Given the description of an element on the screen output the (x, y) to click on. 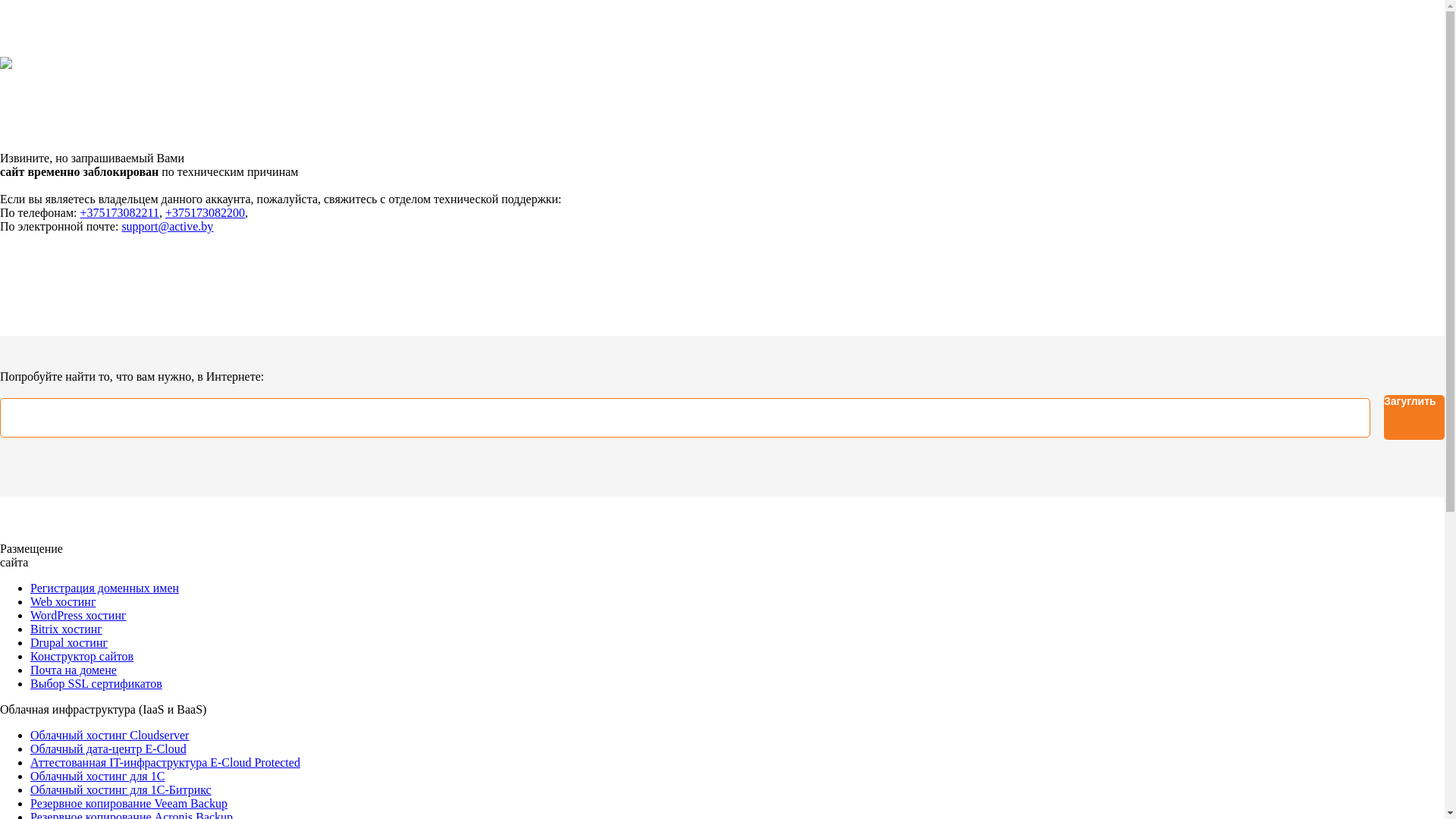
+375173082211 Element type: text (119, 212)
+375173082200 Element type: text (204, 212)
support@active.by Element type: text (167, 225)
